Given the description of an element on the screen output the (x, y) to click on. 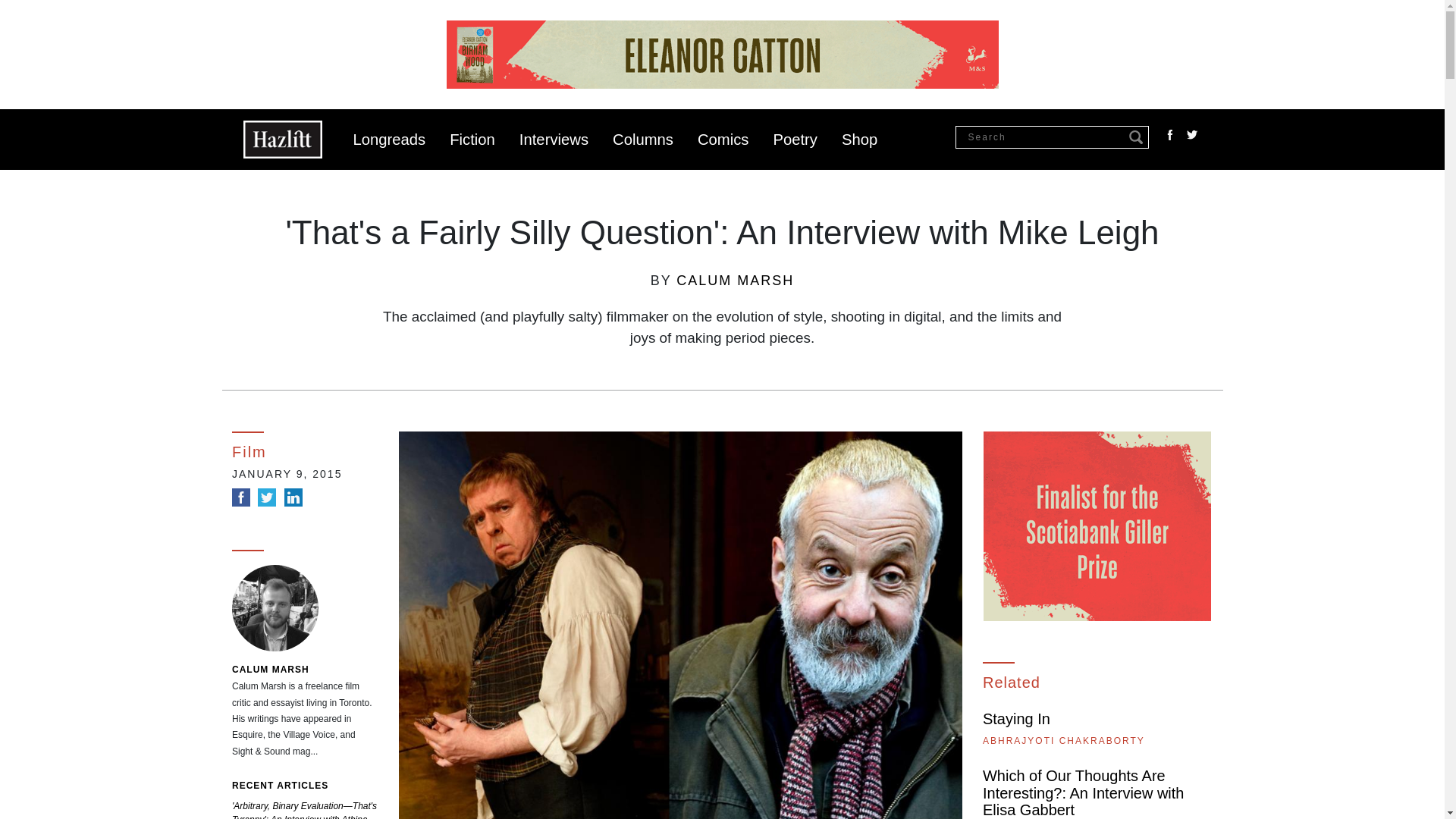
Facebook (1169, 135)
Search (1136, 137)
Twitter (266, 497)
Film (304, 445)
Shop (859, 139)
Twitter (1191, 135)
Comics (723, 139)
CALUM MARSH (269, 669)
Facebook (240, 497)
Poetry (794, 139)
